Given the description of an element on the screen output the (x, y) to click on. 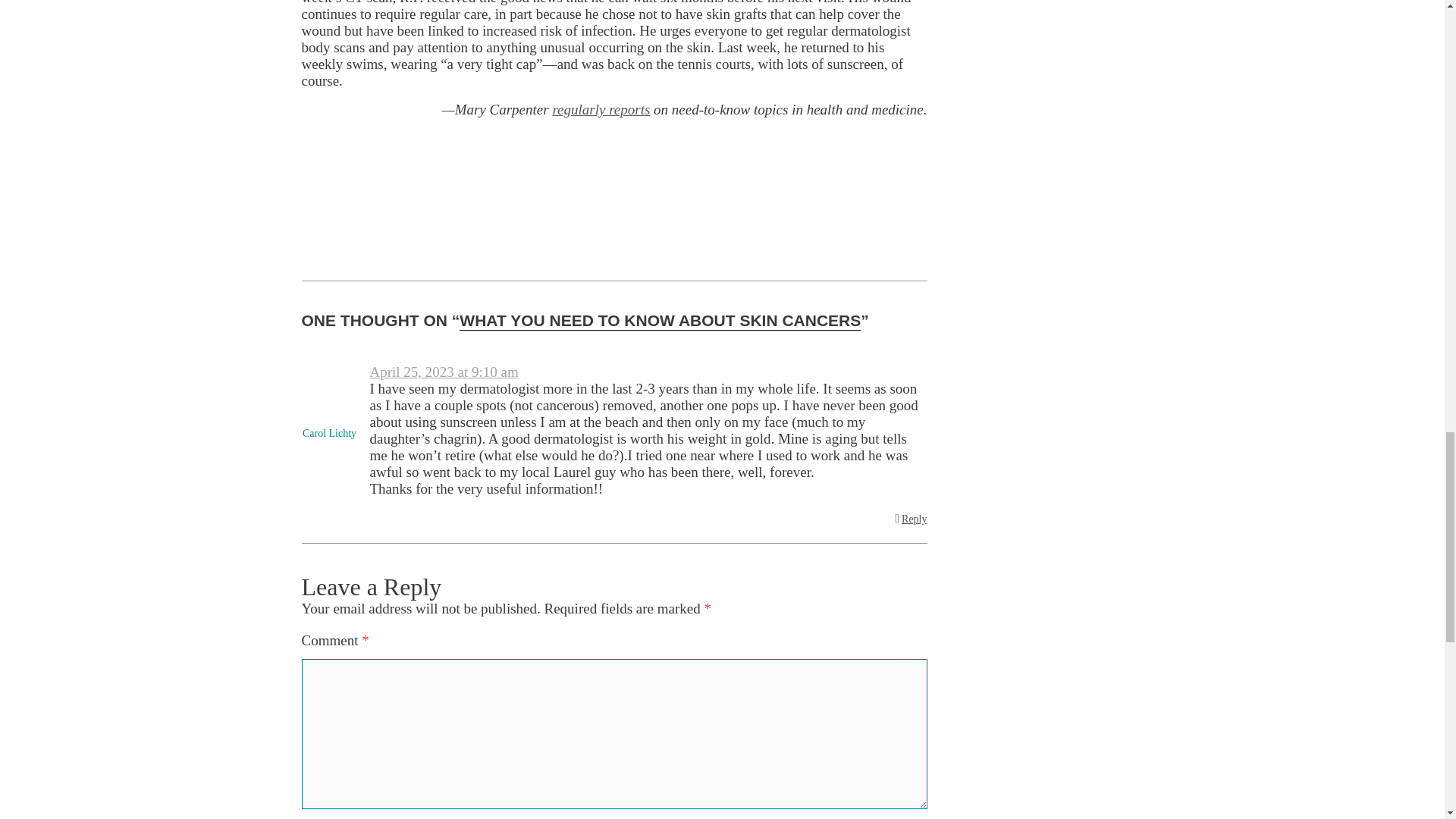
regularly reports (600, 109)
April 25, 2023 at 9:10 am (443, 371)
Reply (910, 518)
